Given the description of an element on the screen output the (x, y) to click on. 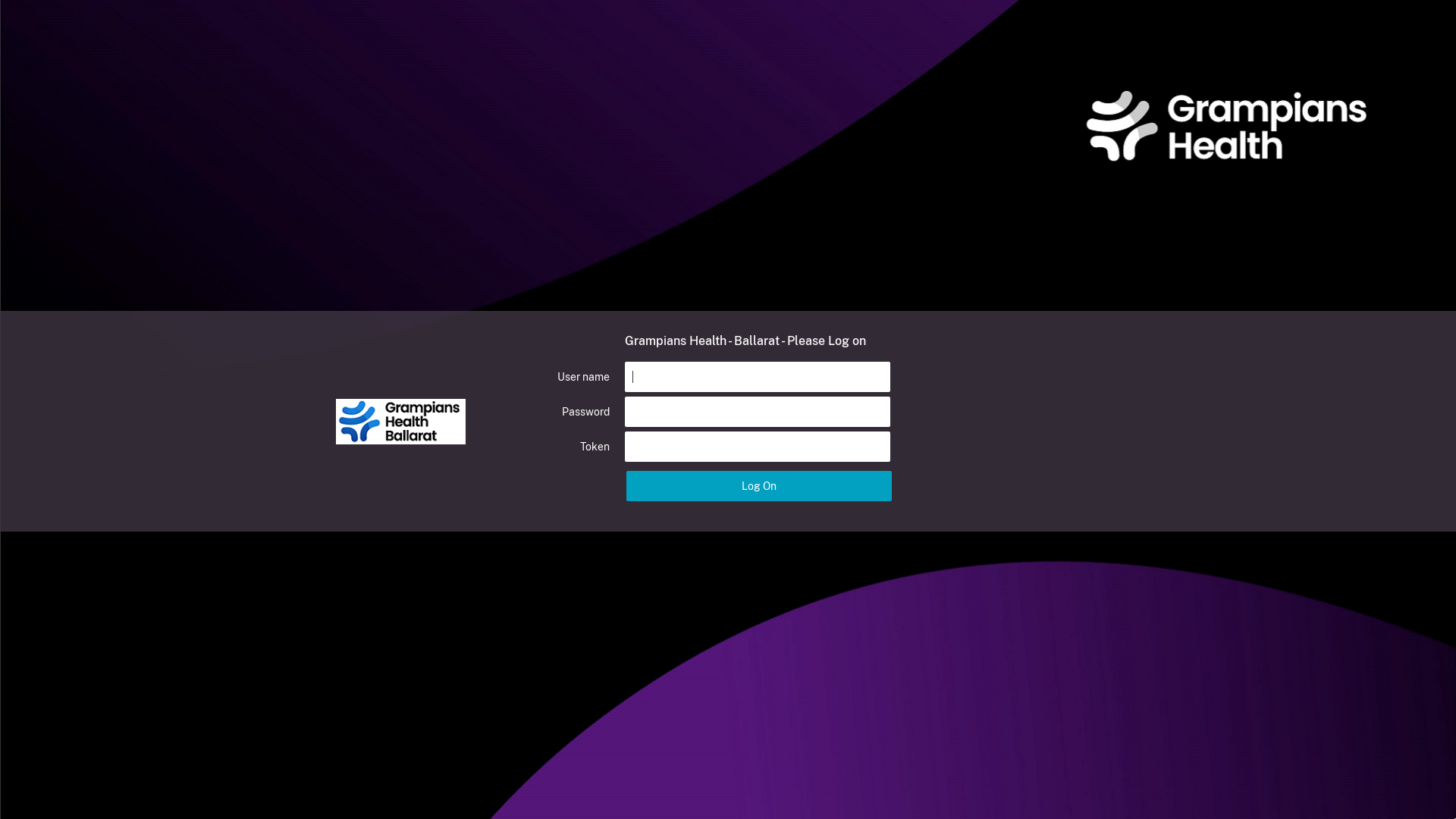
Log On Element type: text (758, 485)
